Given the description of an element on the screen output the (x, y) to click on. 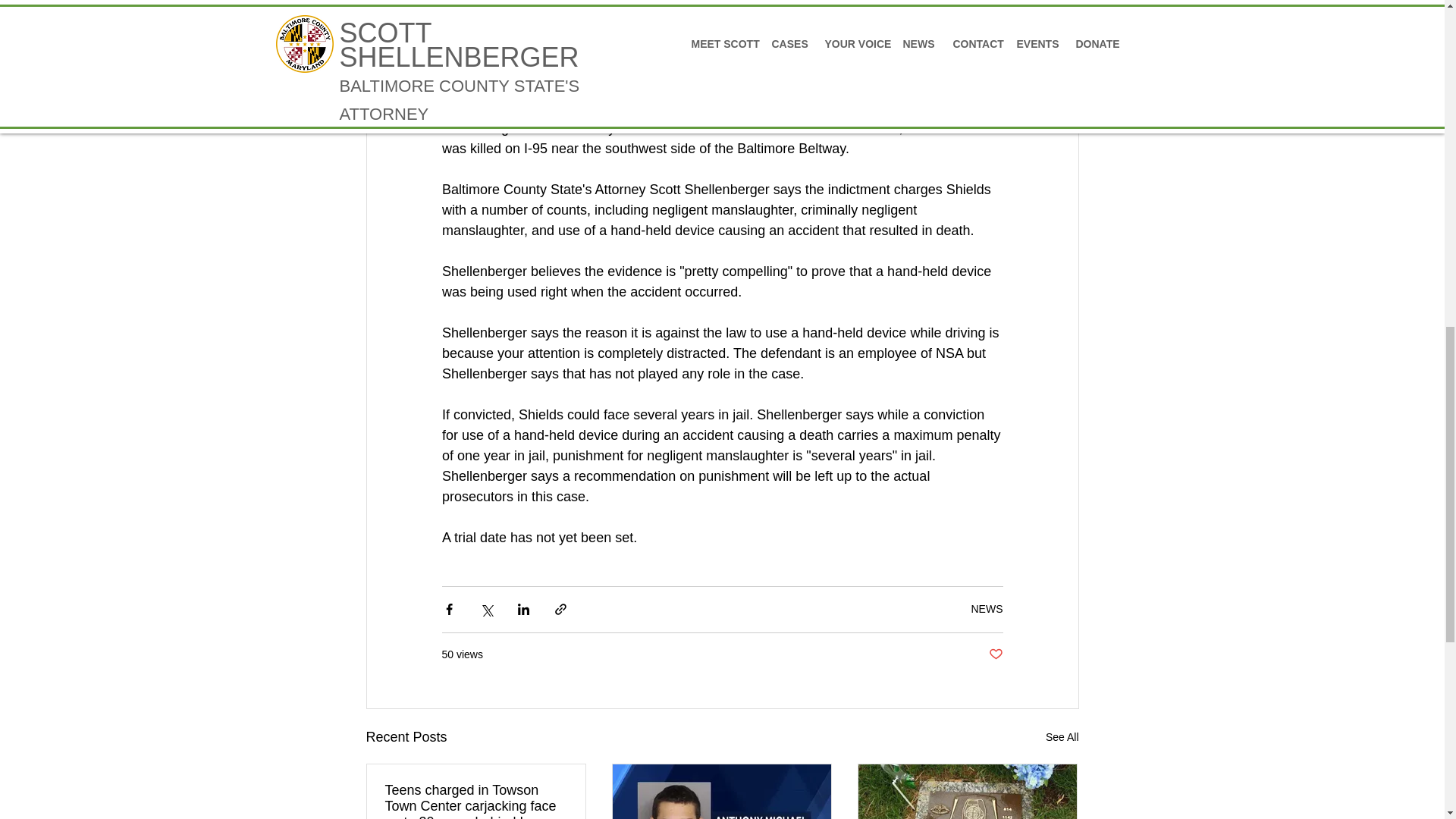
Post not marked as liked (995, 654)
See All (1061, 737)
NEWS (987, 608)
